Given the description of an element on the screen output the (x, y) to click on. 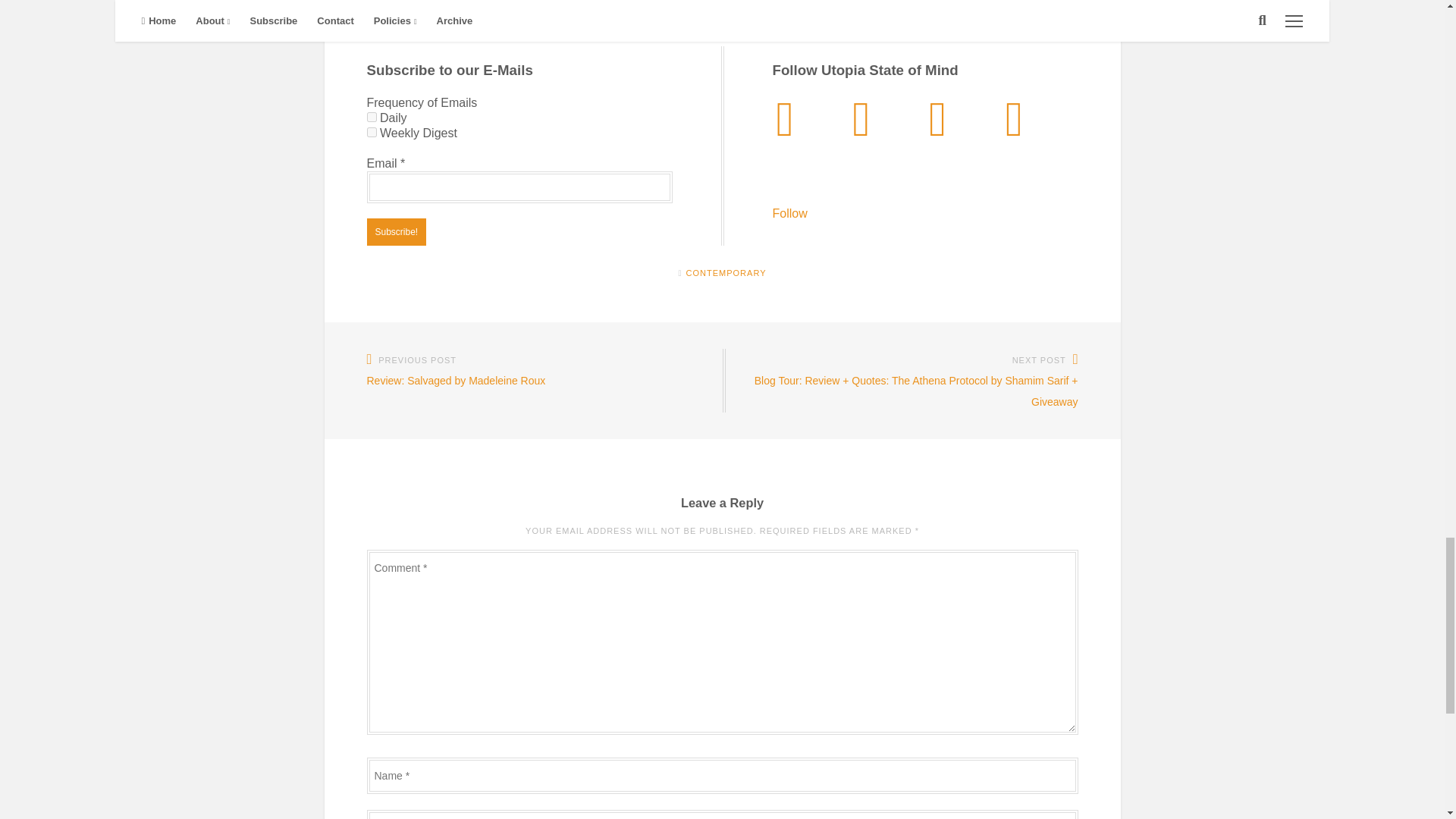
Subscribe! (396, 231)
Twitter (396, 10)
Twitter (396, 10)
Subscribe! (396, 231)
Follow Button (924, 181)
Facebook (414, 10)
3 (371, 132)
Follow (788, 213)
Email (376, 10)
